Given the description of an element on the screen output the (x, y) to click on. 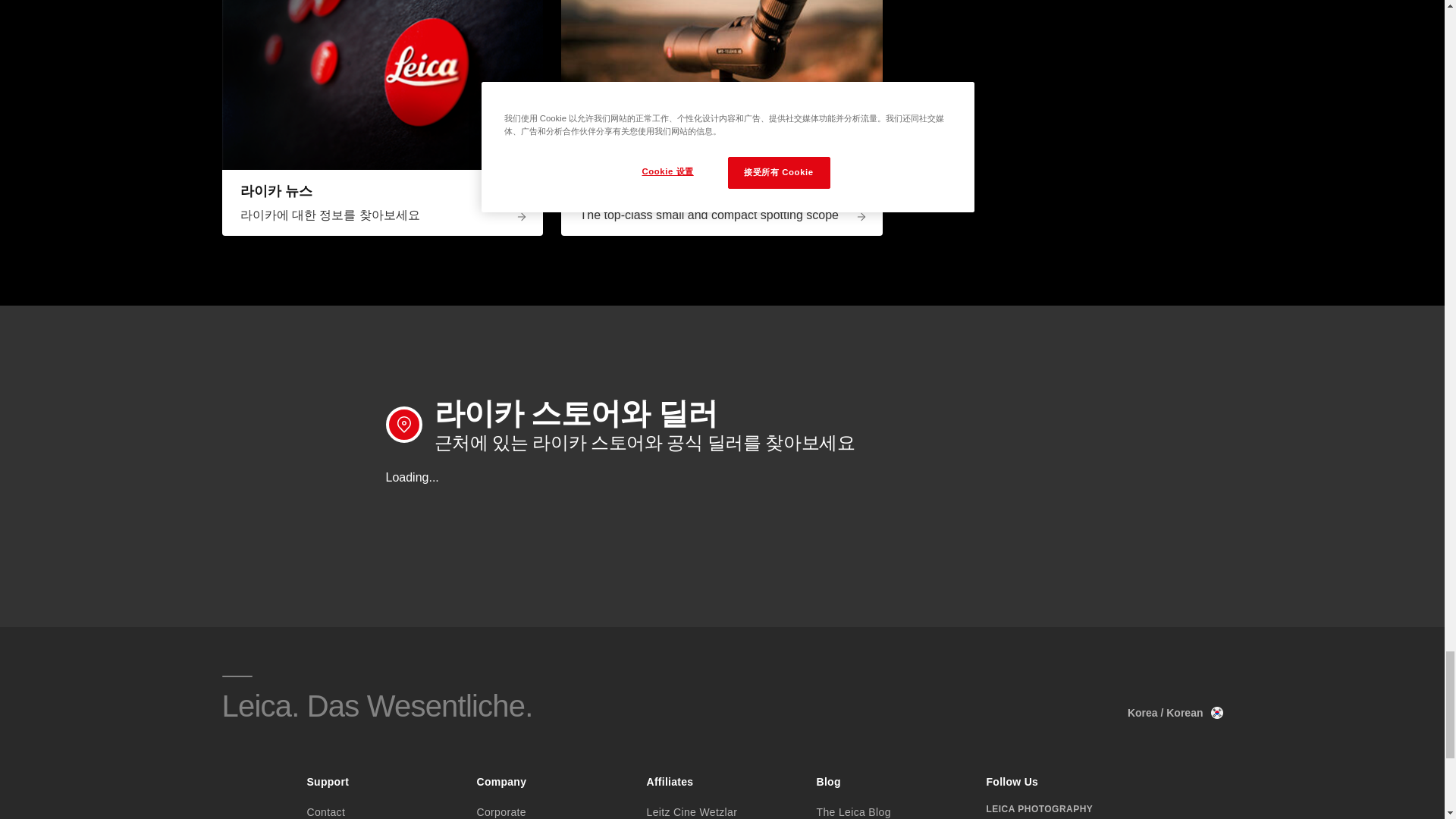
Leica Spotting Scopes (721, 84)
